Given the description of an element on the screen output the (x, y) to click on. 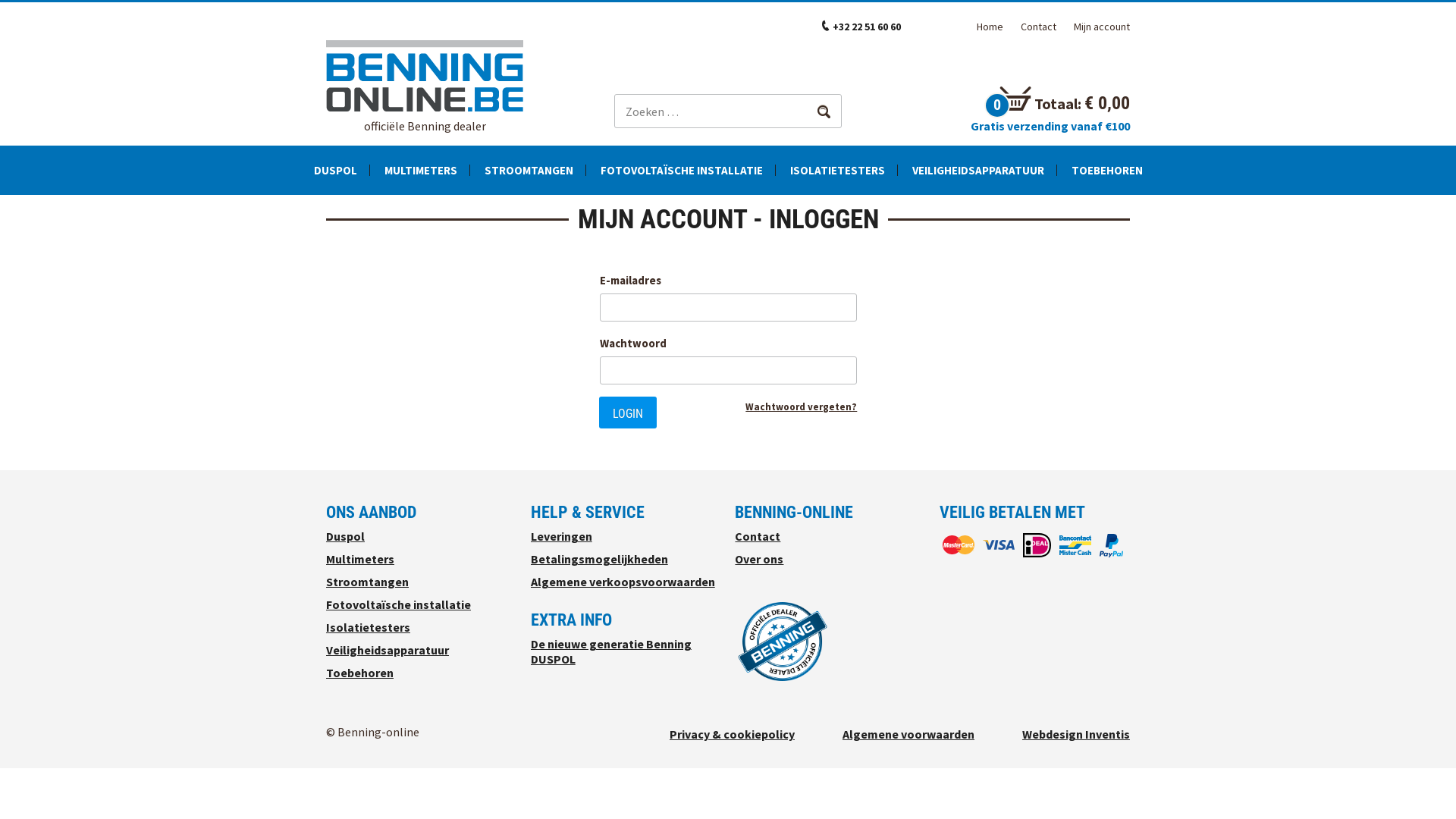
EXTRA INFO Element type: text (570, 619)
Contact Element type: text (1038, 26)
Wachtwoord vergeten? Element type: text (800, 406)
Multimeters Element type: text (360, 558)
Algemene voorwaarden Element type: text (908, 733)
Over ons Element type: text (758, 558)
STROOMTANGEN Element type: text (527, 170)
MULTIMETERS Element type: text (419, 170)
Toebehoren Element type: text (359, 672)
DUSPOL Element type: text (335, 170)
Home Element type: text (989, 26)
De nieuwe generatie Benning DUSPOL Element type: text (610, 651)
+32 22 51 60 60 Element type: text (866, 26)
Contact Element type: text (757, 535)
Stroomtangen Element type: text (367, 581)
Webdesign Inventis Element type: text (1075, 733)
TOEBEHOREN Element type: text (1106, 170)
VEILIGHEIDSAPPARATUUR Element type: text (977, 170)
Duspol Element type: text (345, 535)
ISOLATIETESTERS Element type: text (837, 170)
Privacy & cookiepolicy Element type: text (731, 733)
Mijn account Element type: text (1101, 26)
Algemene verkoopsvoorwaarden Element type: text (622, 581)
LOGIN Element type: text (627, 412)
HELP & SERVICE Element type: text (587, 511)
Leveringen Element type: text (561, 535)
Veiligheidsapparatuur Element type: text (387, 649)
Isolatietesters Element type: text (368, 626)
Betalingsmogelijkheden Element type: text (599, 558)
